Given the description of an element on the screen output the (x, y) to click on. 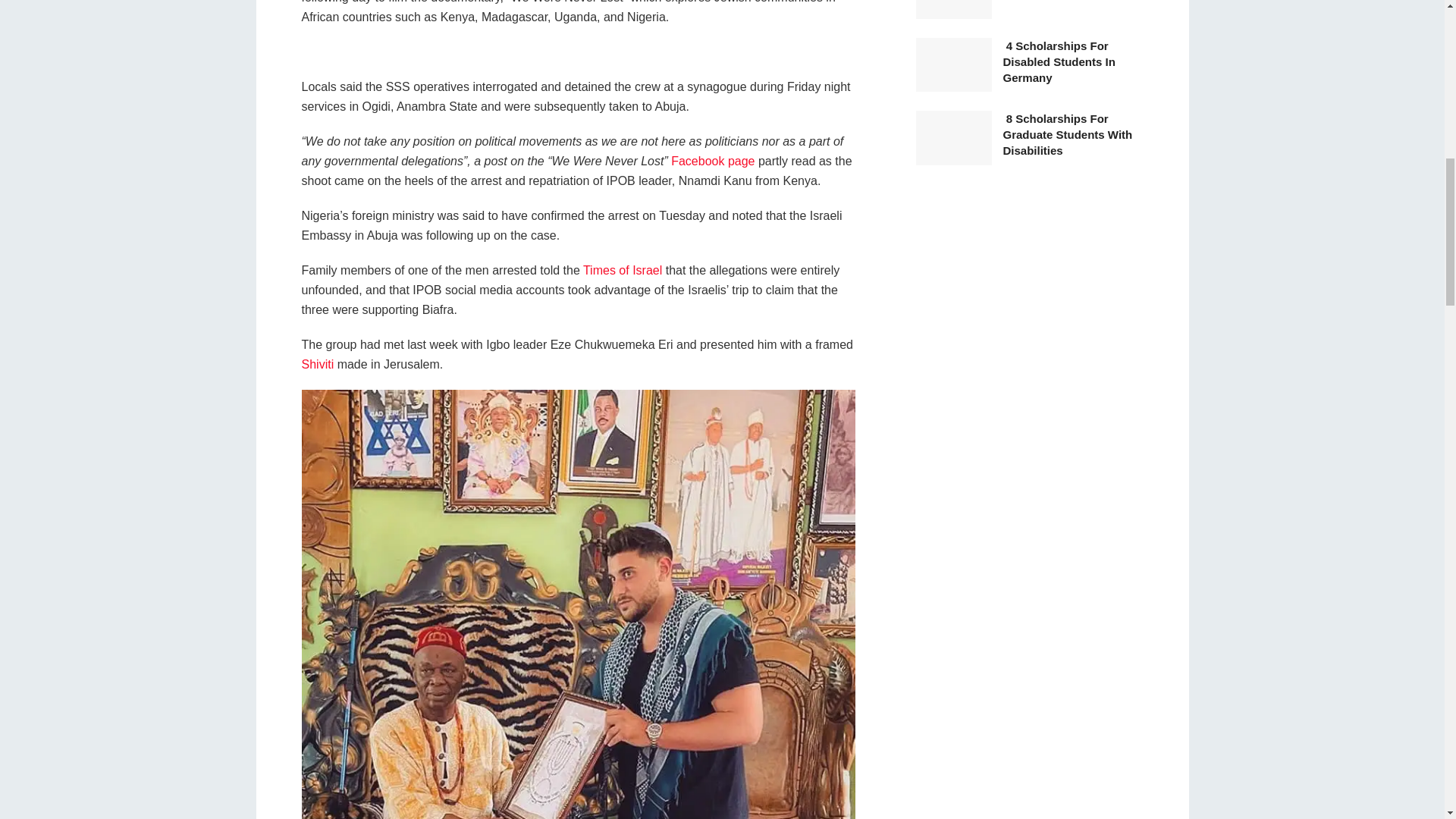
Times of Israel (622, 269)
Shiviti (317, 364)
Facebook page (712, 160)
